Given the description of an element on the screen output the (x, y) to click on. 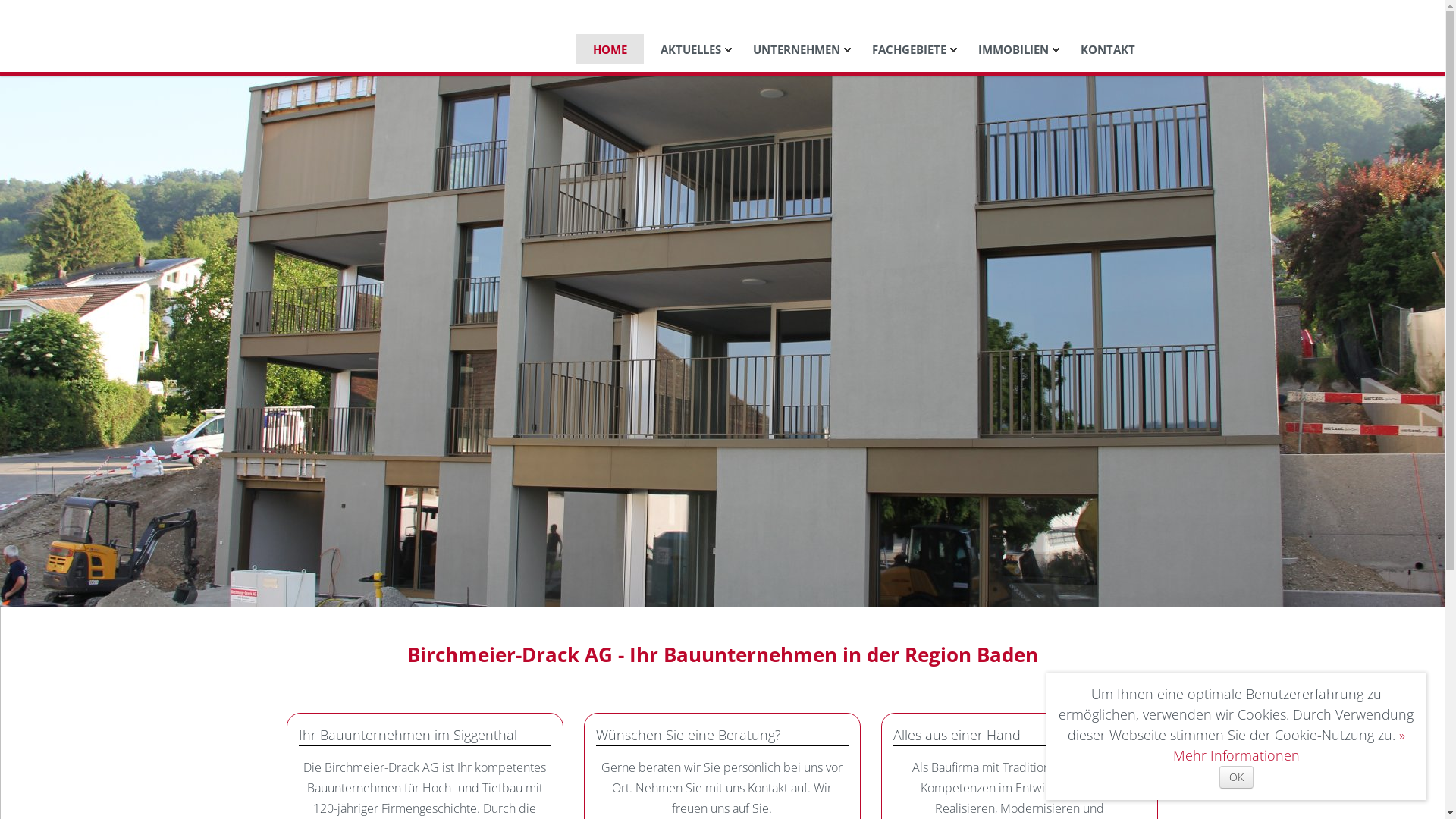
UNTERNEHMEN Element type: text (795, 48)
AKTUELLES Element type: text (689, 48)
FACHGEBIETE Element type: text (909, 48)
KONTAKT Element type: text (1106, 48)
HOME Element type: text (610, 48)
OK Element type: text (1236, 776)
IMMOBILIEN Element type: text (1013, 48)
